Given the description of an element on the screen output the (x, y) to click on. 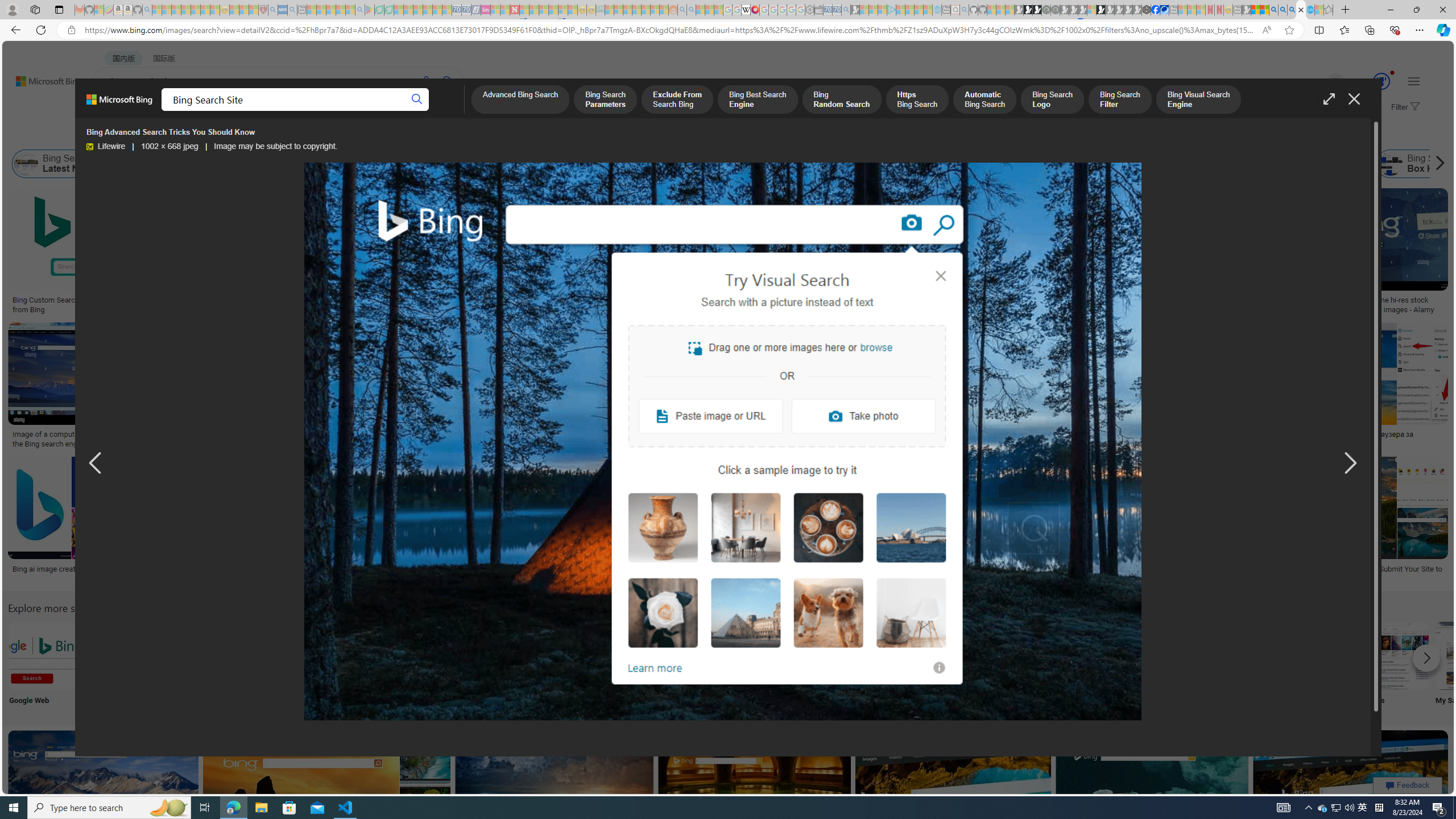
Previous image result (95, 463)
Bing Search Latest News (60, 163)
Image Search Bing Engine (241, 434)
Bing Search Latest News (25, 163)
Image Search Bing EngineSave (243, 387)
Nordace - Cooler Bags (1146, 9)
Bing Search App (1018, 654)
Intelligent (1093, 665)
